Given the description of an element on the screen output the (x, y) to click on. 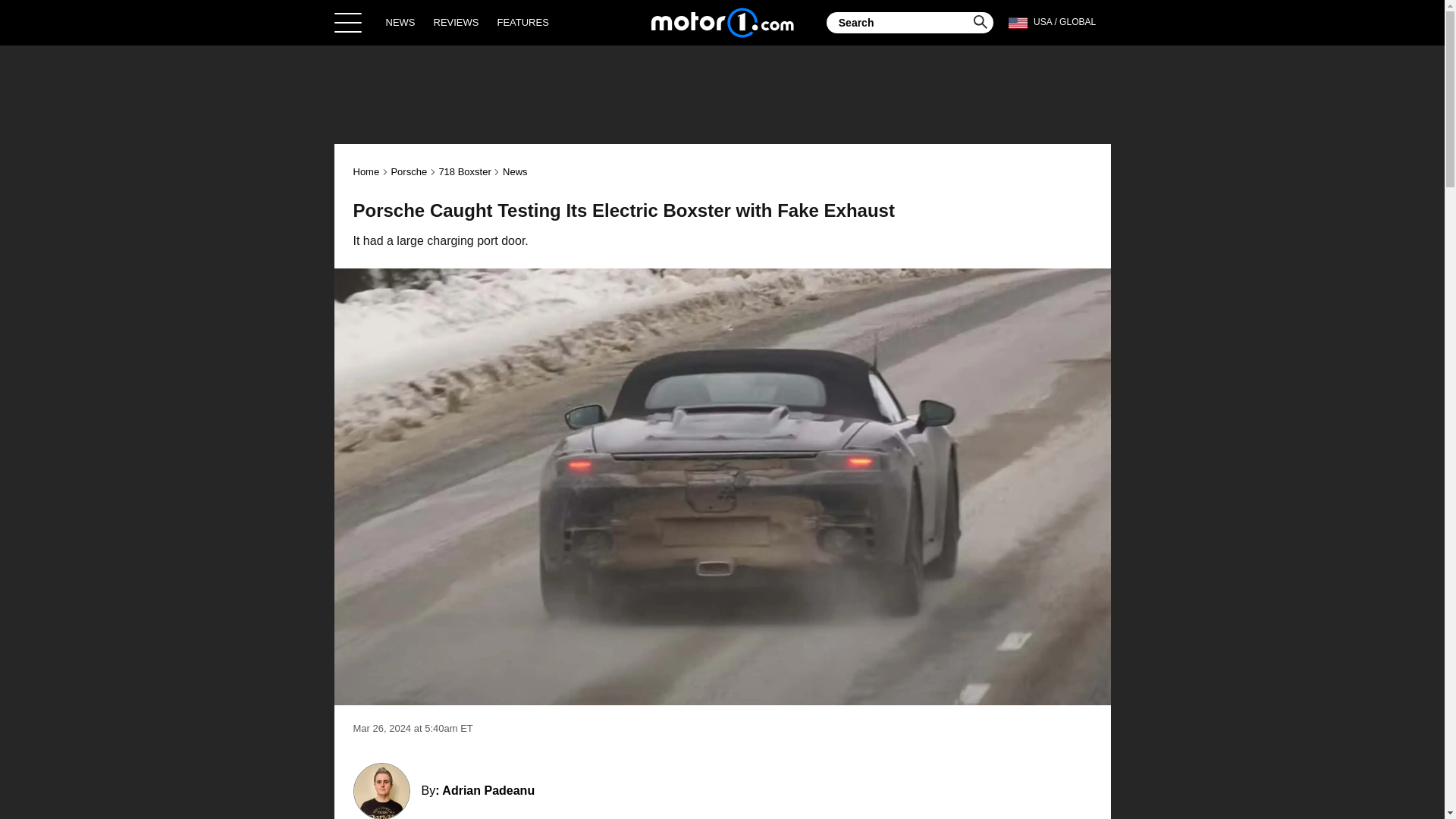
News (514, 171)
Adrian Padeanu (488, 789)
Porsche (408, 171)
REVIEWS (456, 22)
NEWS (399, 22)
718 Boxster (464, 171)
Home (366, 171)
Home (721, 22)
FEATURES (522, 22)
